Given the description of an element on the screen output the (x, y) to click on. 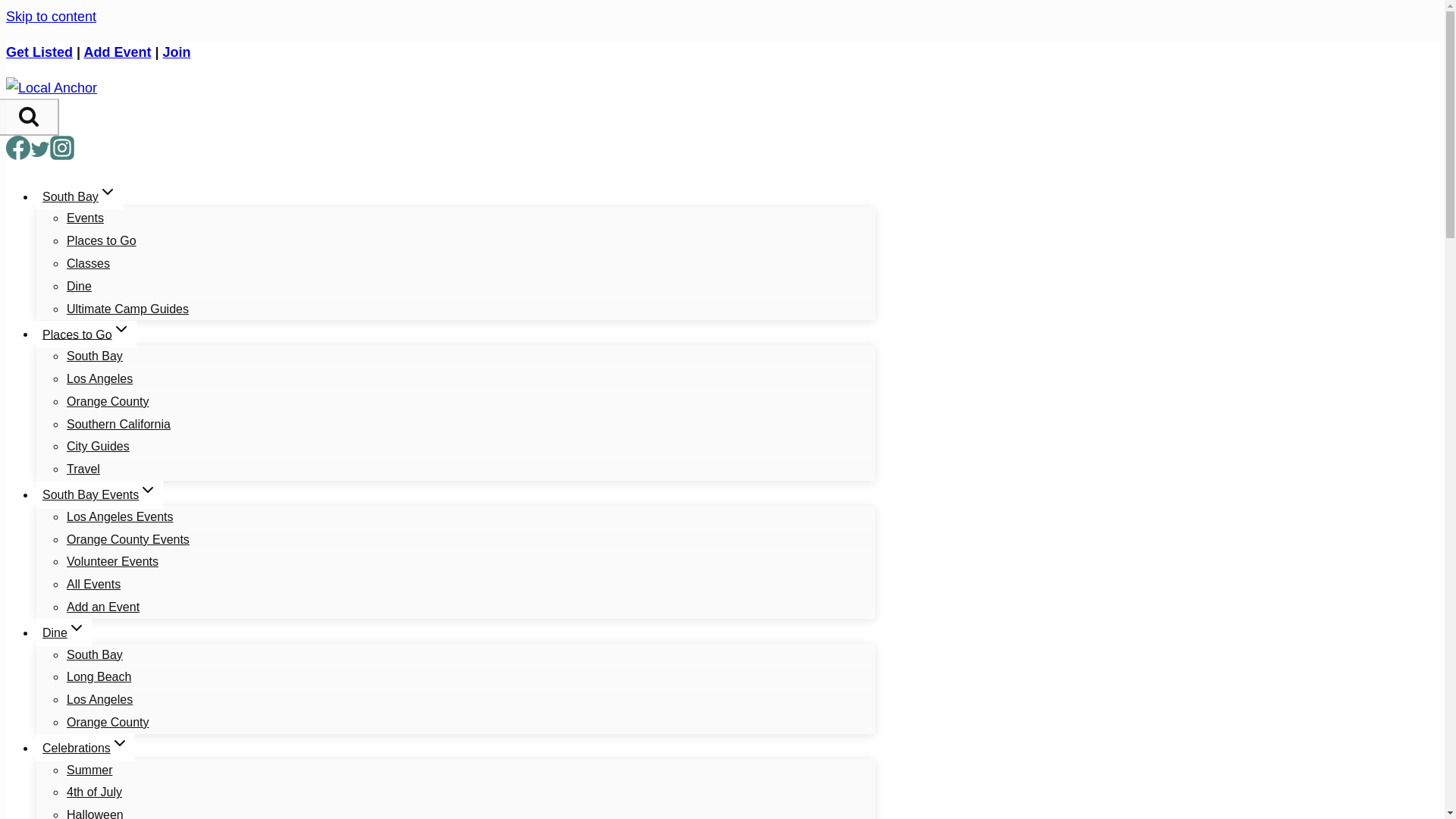
Expand (121, 329)
Ultimate Camp Guides (127, 308)
Orange County (107, 401)
Events (84, 217)
Expand (119, 742)
Twitter (39, 153)
South BayExpand (79, 195)
Instagram (61, 147)
Halloween (94, 807)
Los Angeles (99, 378)
